Given the description of an element on the screen output the (x, y) to click on. 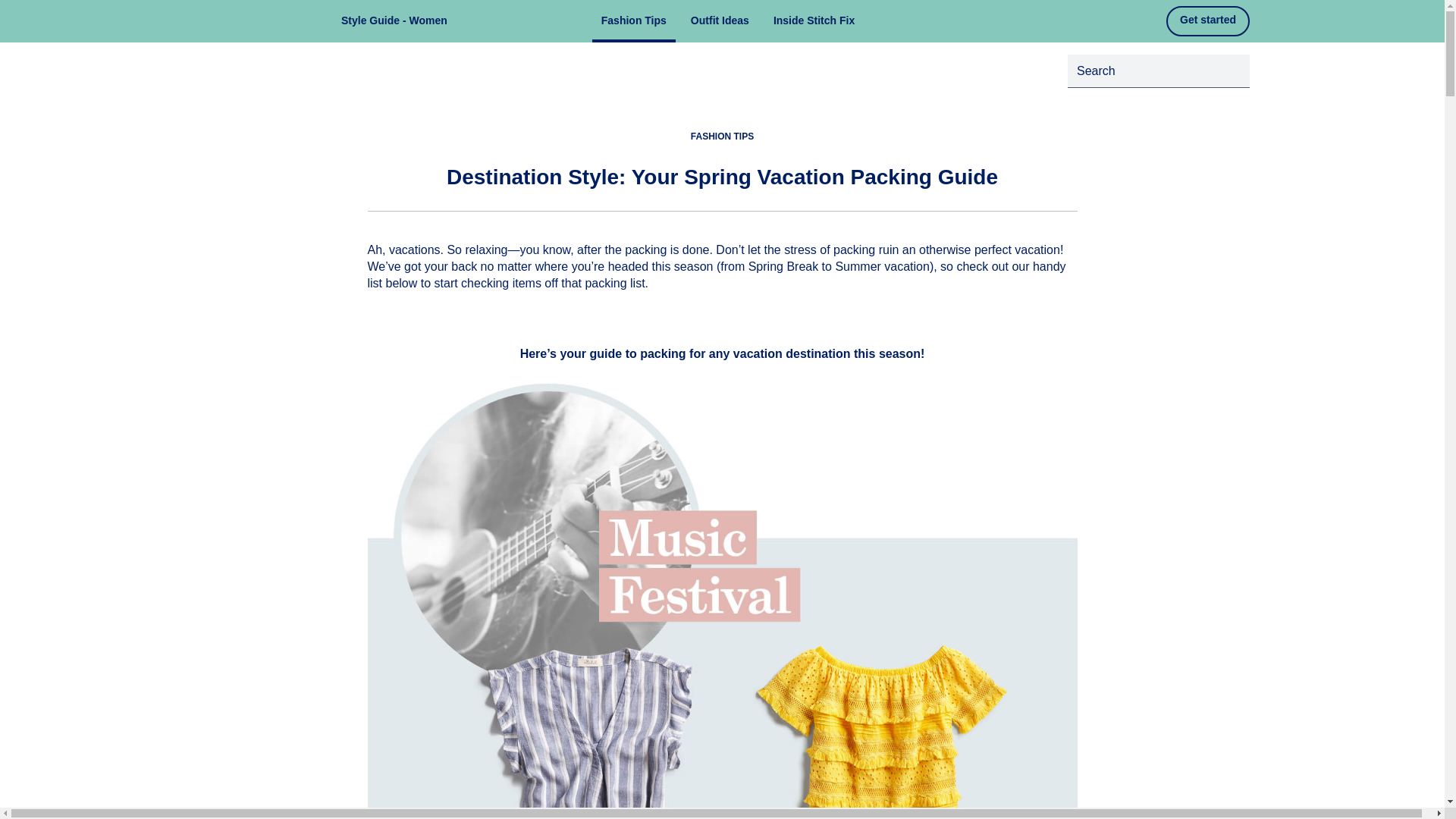
Stitch Fix (264, 21)
Inside Stitch Fix (813, 21)
Outfit Ideas (719, 21)
Fashion Tips (633, 21)
Get started (1207, 20)
FASHION TIPS (722, 136)
